Given the description of an element on the screen output the (x, y) to click on. 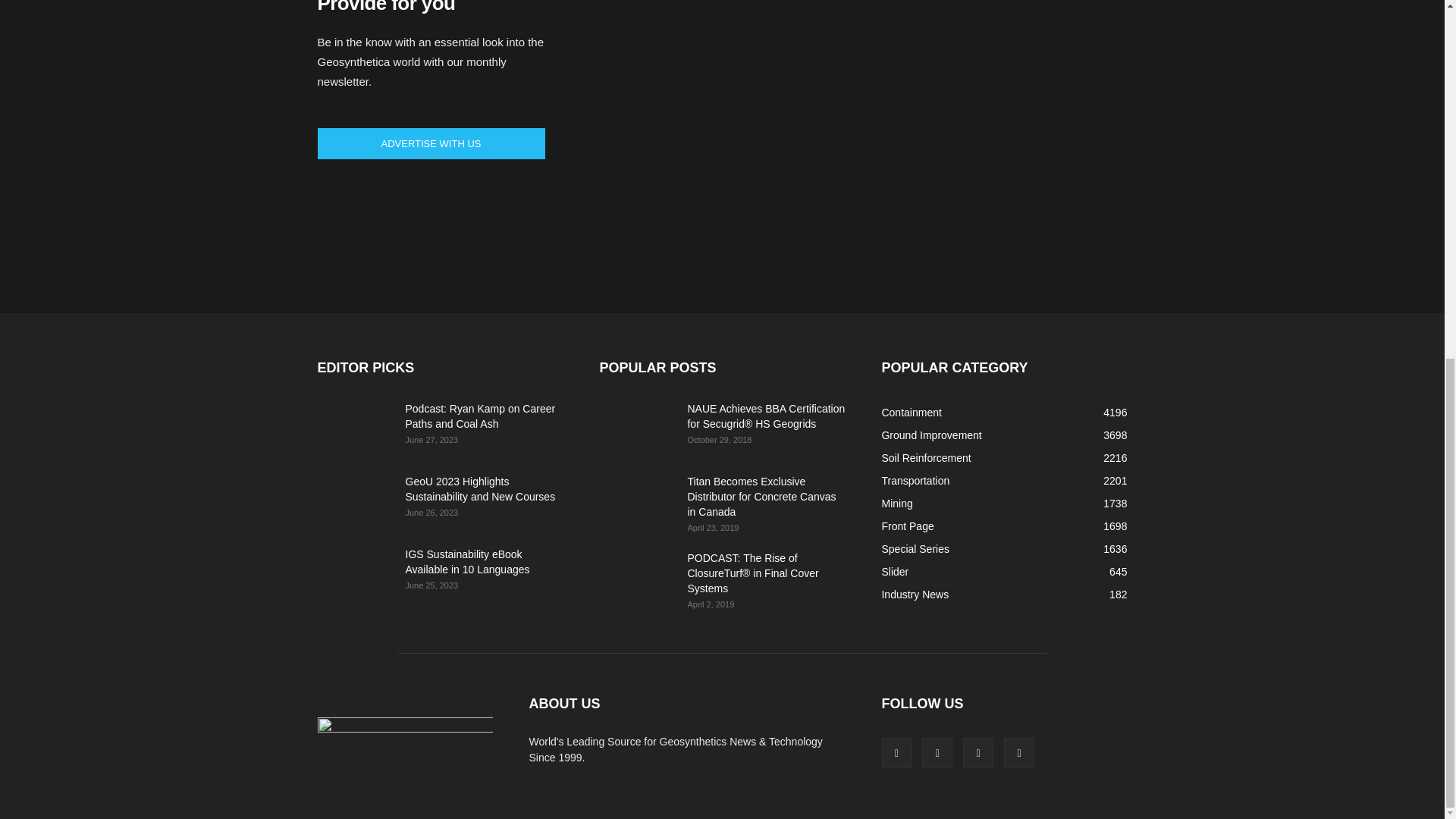
Podcast: Ryan Kamp on Career Paths and Coal Ash (479, 415)
GeoU 2023 Highlights Sustainability and New Courses (479, 488)
ADVERTISE WITH US (430, 142)
Podcast: Ryan Kamp on Career Paths and Coal Ash (355, 427)
GeoU 2023 Highlights Sustainability and New Courses (355, 500)
Podcast: Ryan Kamp on Career Paths and Coal Ash (479, 415)
ADVERTISE WITH US (430, 142)
IGS Sustainability eBook Available in 10 Languages (466, 561)
